Given the description of an element on the screen output the (x, y) to click on. 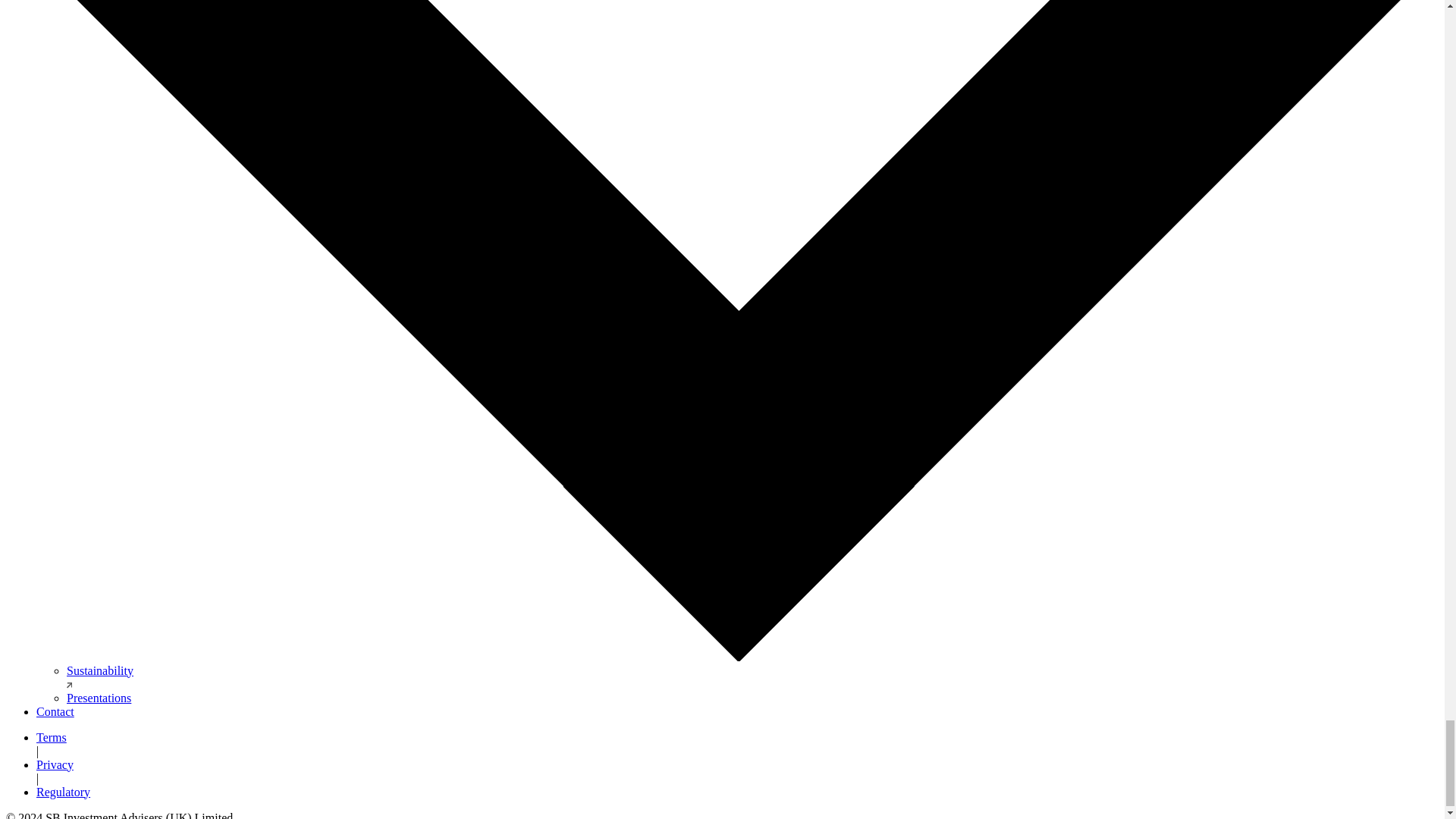
Presentations (98, 697)
Regulatory (63, 791)
Contact (55, 711)
Terms (51, 737)
Privacy (55, 764)
